Given the description of an element on the screen output the (x, y) to click on. 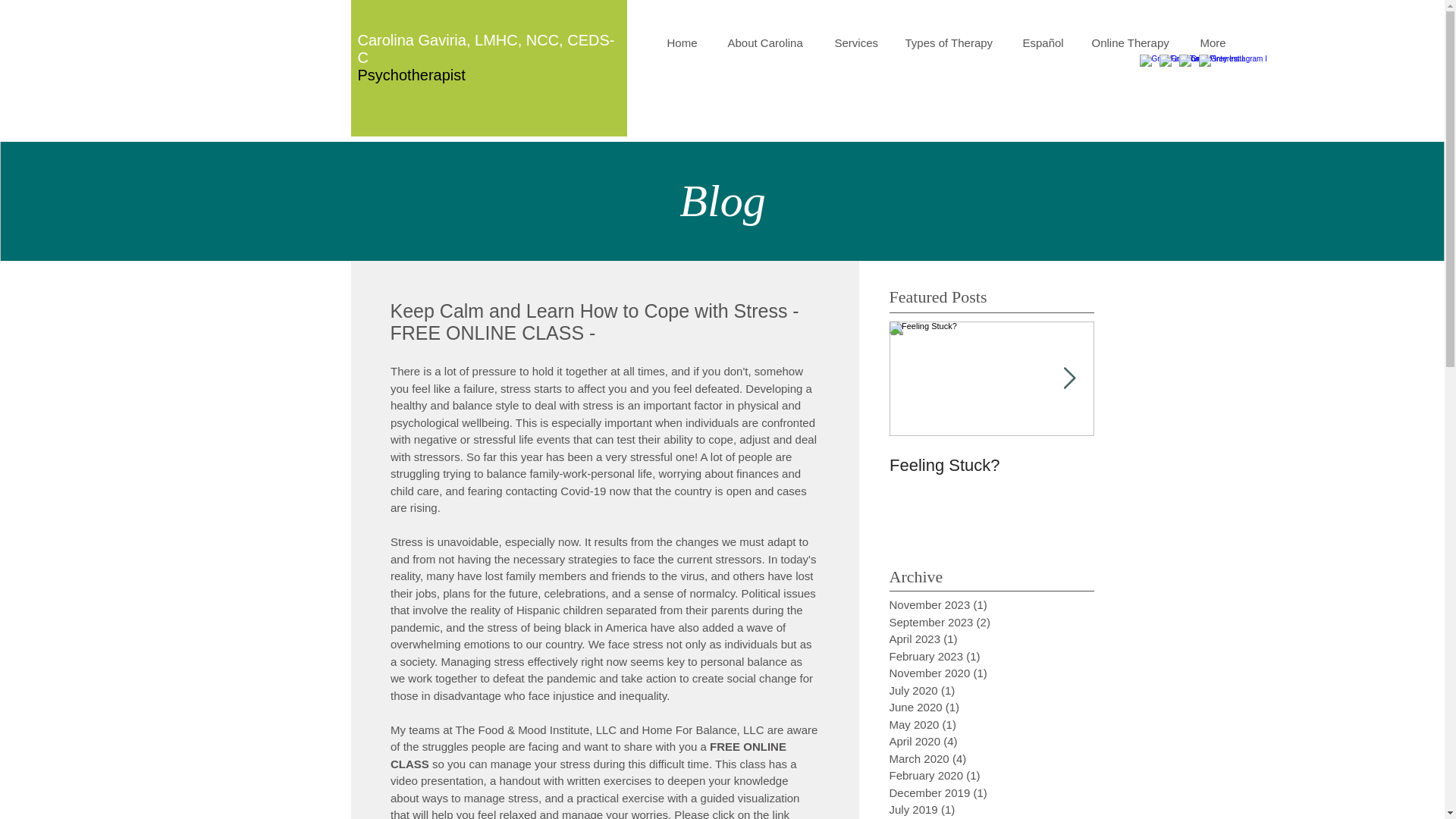
Services (858, 42)
About Carolina (769, 42)
Online Therapy (1134, 42)
Types of Therapy (951, 42)
Home (685, 42)
